Given the description of an element on the screen output the (x, y) to click on. 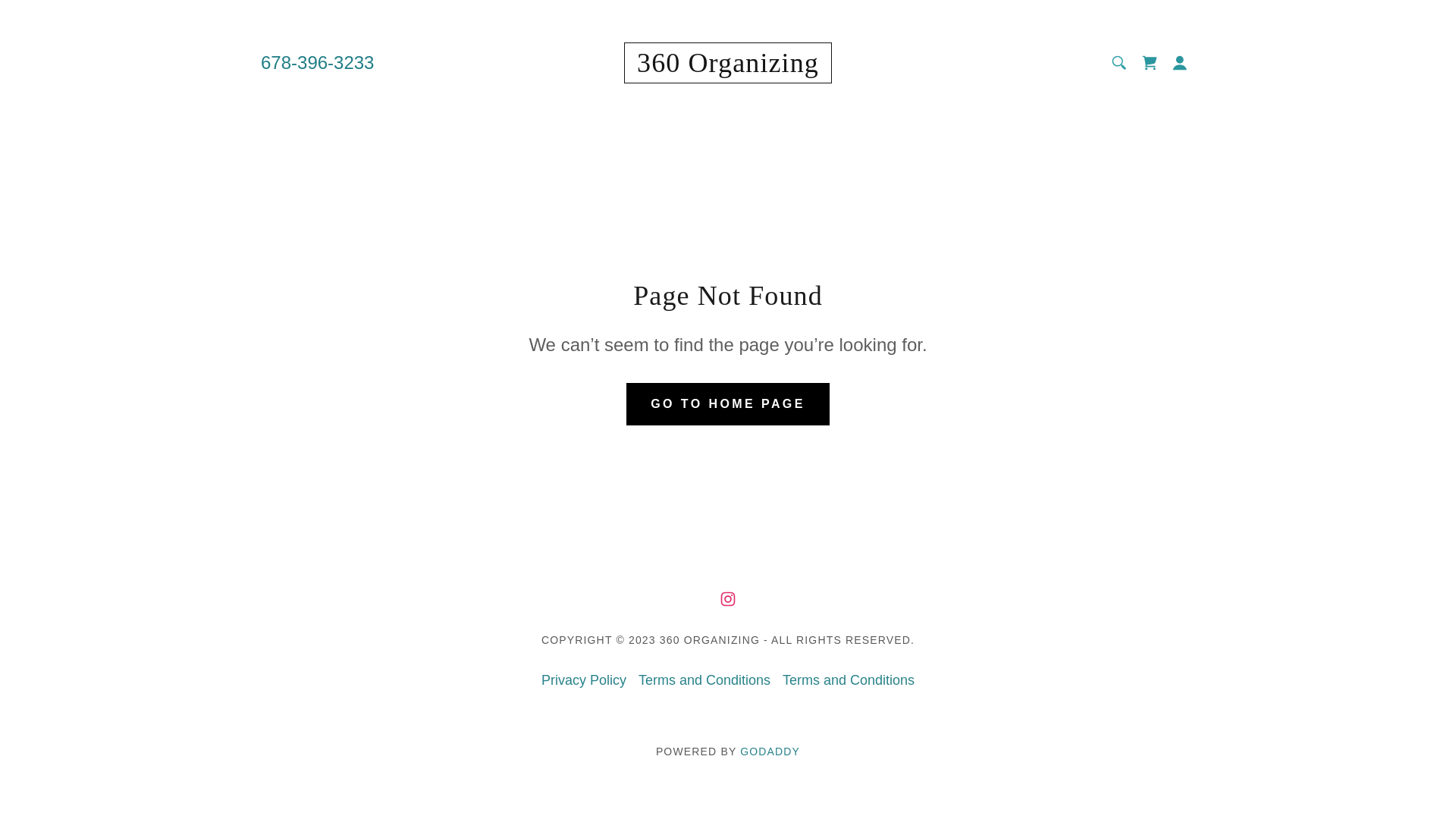
GODADDY Element type: text (770, 751)
678-396-3233 Element type: text (316, 62)
360 Organizing Element type: text (727, 67)
Terms and Conditions Element type: text (704, 680)
GO TO HOME PAGE Element type: text (727, 403)
Terms and Conditions Element type: text (848, 680)
Privacy Policy Element type: text (583, 680)
